Given the description of an element on the screen output the (x, y) to click on. 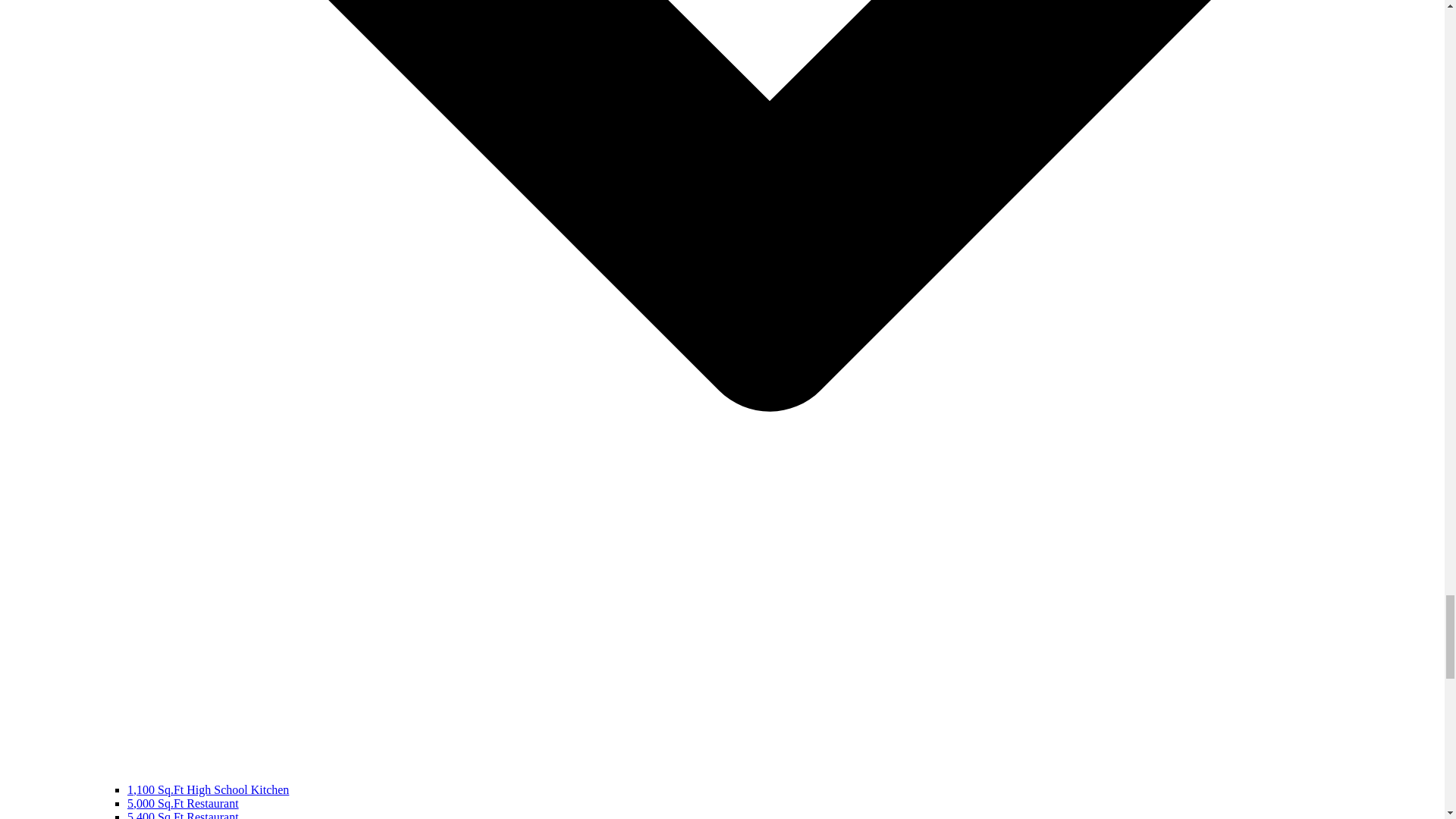
1,100 Sq.Ft High School Kitchen (208, 789)
5,400 Sq.Ft Restaurant (183, 814)
5,000 Sq.Ft Restaurant (183, 802)
